Given the description of an element on the screen output the (x, y) to click on. 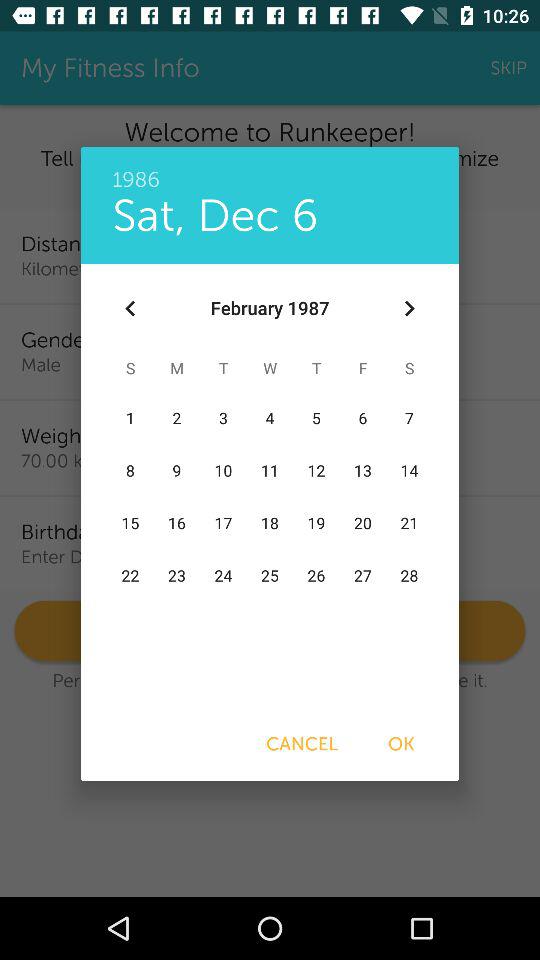
launch the 1986 icon (269, 169)
